Given the description of an element on the screen output the (x, y) to click on. 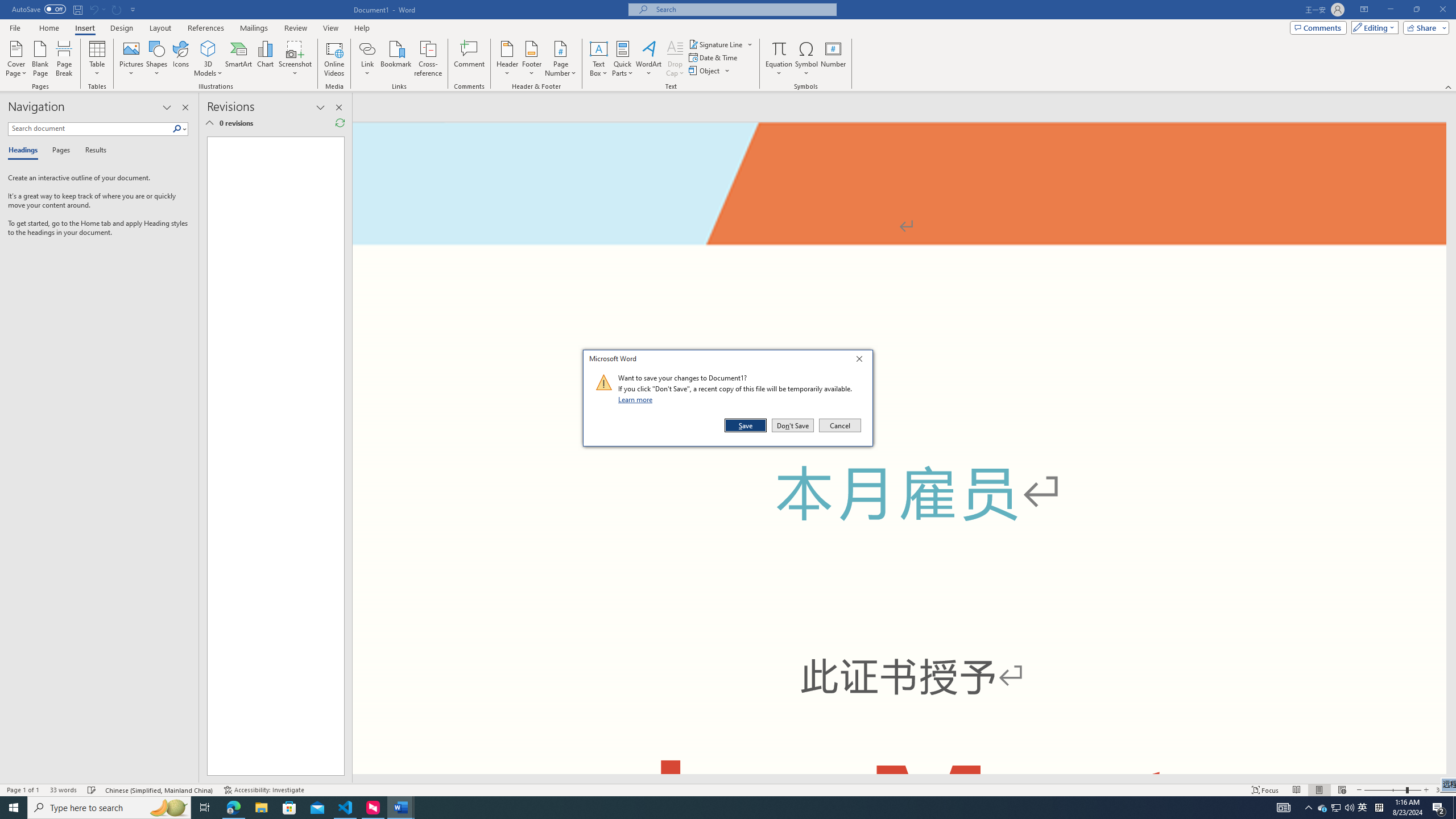
Show desktop (1454, 807)
Number... (833, 58)
Symbol (806, 58)
Equation (778, 48)
Footer (531, 58)
Zoom (1392, 790)
Zoom 308% (1443, 790)
3D Models (208, 48)
Signature Line (716, 44)
Microsoft search (742, 9)
